Given the description of an element on the screen output the (x, y) to click on. 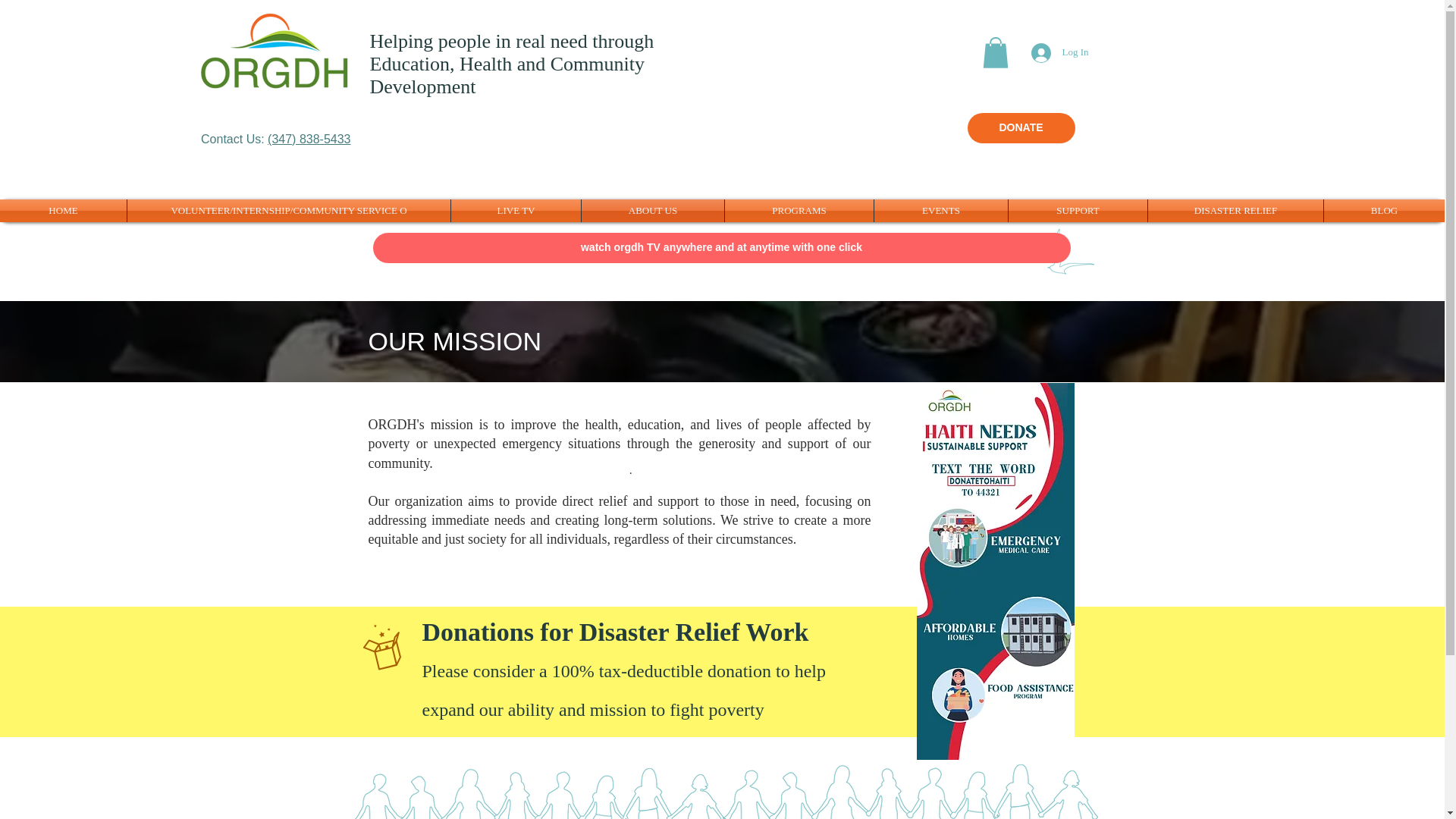
HOME (63, 210)
watch orgdh TV anywhere and at anytime with one click (721, 247)
DONATE (1021, 128)
PROGRAMS (799, 210)
EVENTS (941, 210)
Donate (1008, 673)
ABOUT US (651, 210)
SUPPORT (1078, 210)
Log In (1059, 51)
DISASTER RELIEF (1235, 210)
